Given the description of an element on the screen output the (x, y) to click on. 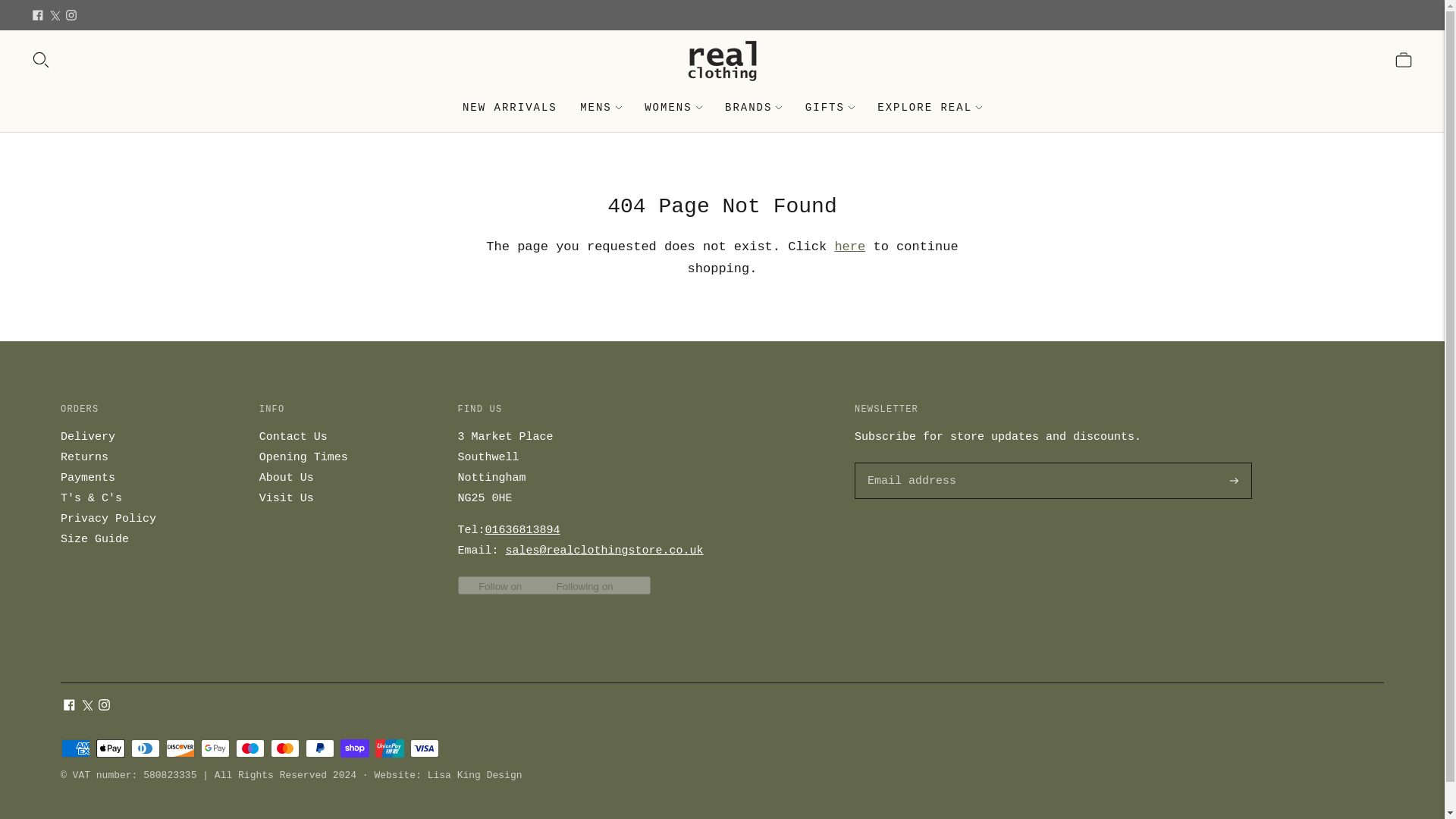
Real Clothing Southwell on Facebook (37, 14)
Real Clothing Southwell on Instagram (71, 14)
Real Clothing Southwell on Twitter (54, 14)
